Given the description of an element on the screen output the (x, y) to click on. 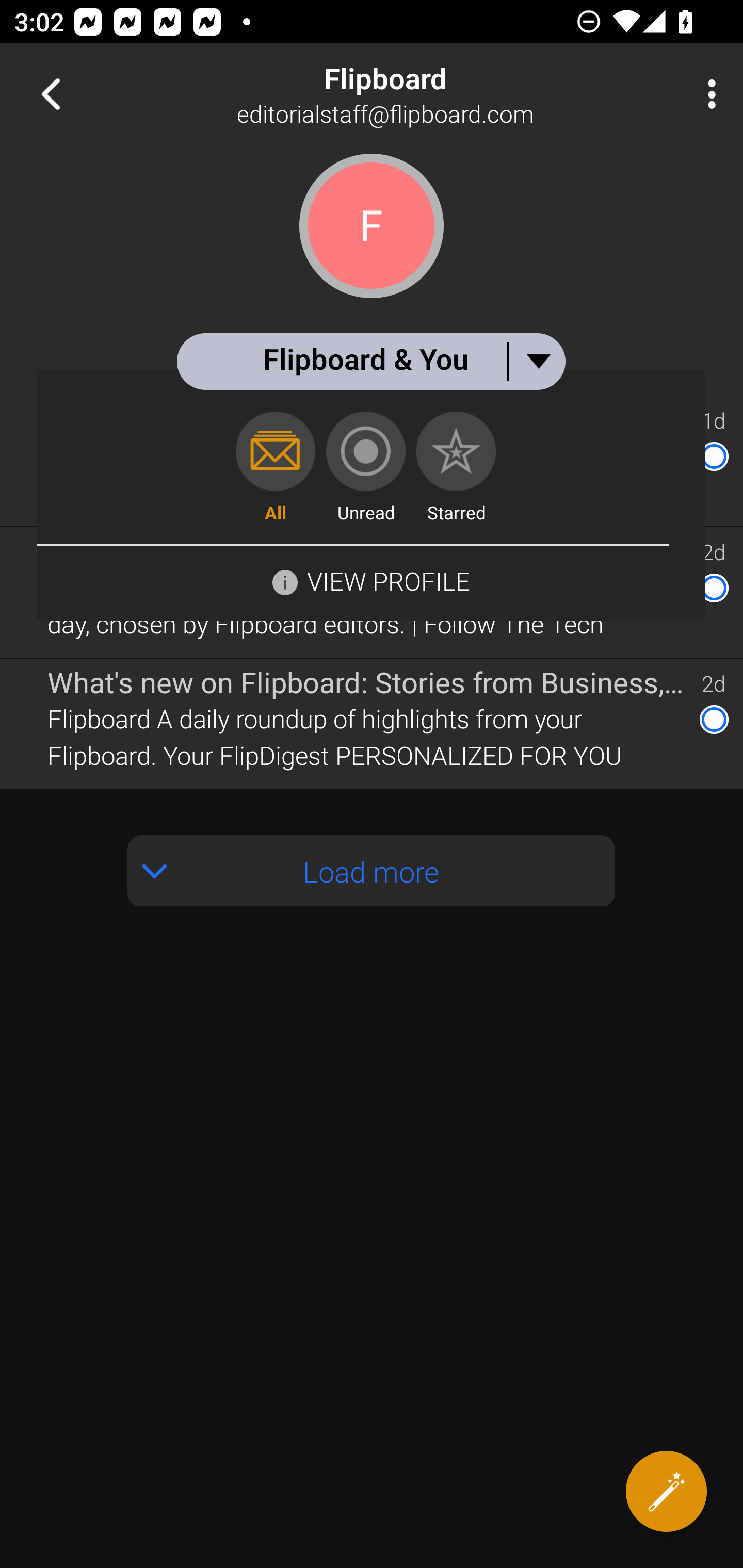
VIEW PROFILE (371, 580)
VIEW PROFILE (388, 580)
